Given the description of an element on the screen output the (x, y) to click on. 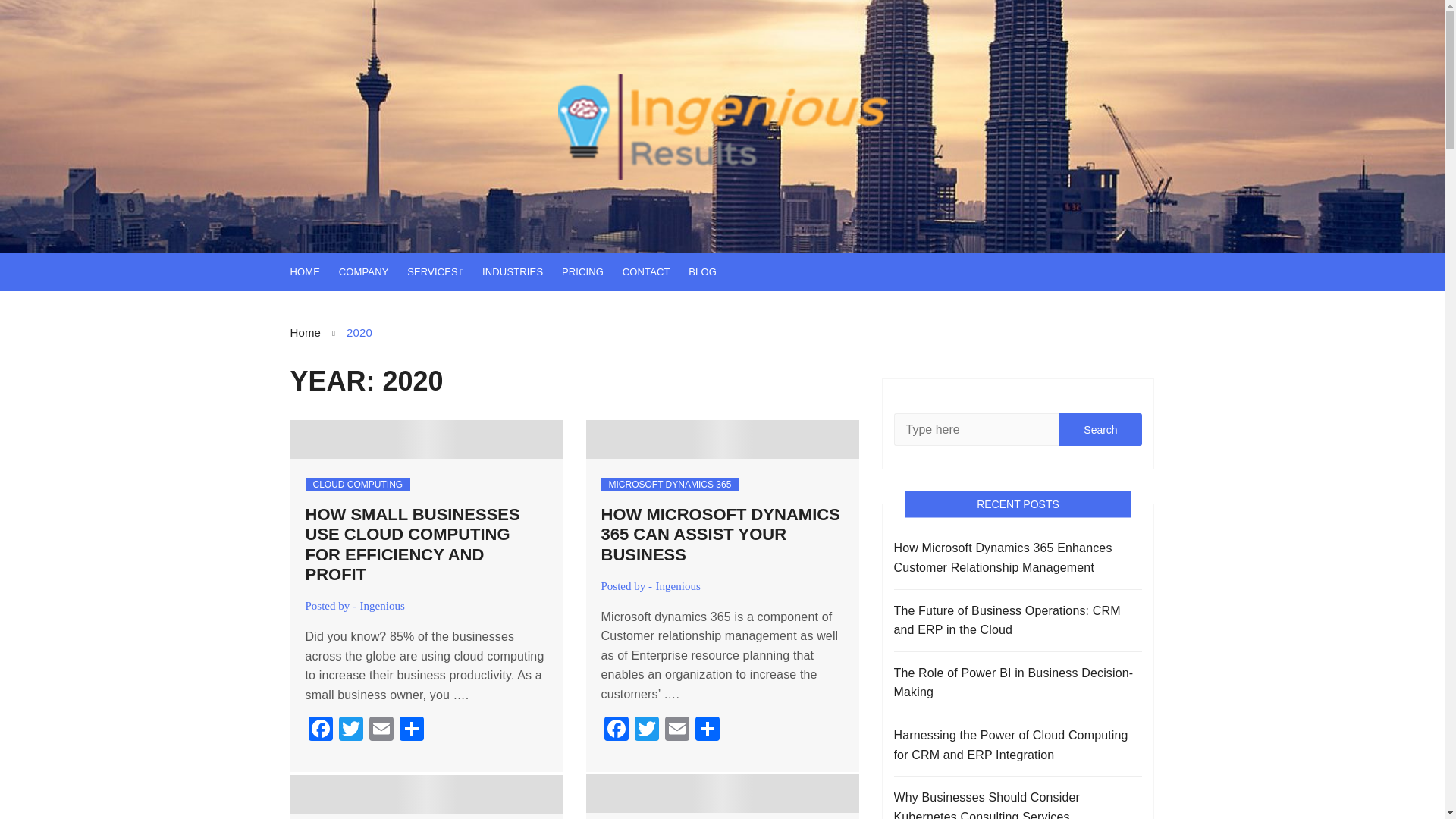
Search (1099, 429)
Ingenious (381, 605)
COMPANY (371, 272)
HOW MICROSOFT DYNAMICS 365 CAN ASSIST YOUR BUSINESS (719, 534)
CLOUD COMPUTING (357, 484)
Facebook (614, 730)
Email (676, 730)
Facebook (614, 730)
Home (317, 332)
Email (380, 730)
